Given the description of an element on the screen output the (x, y) to click on. 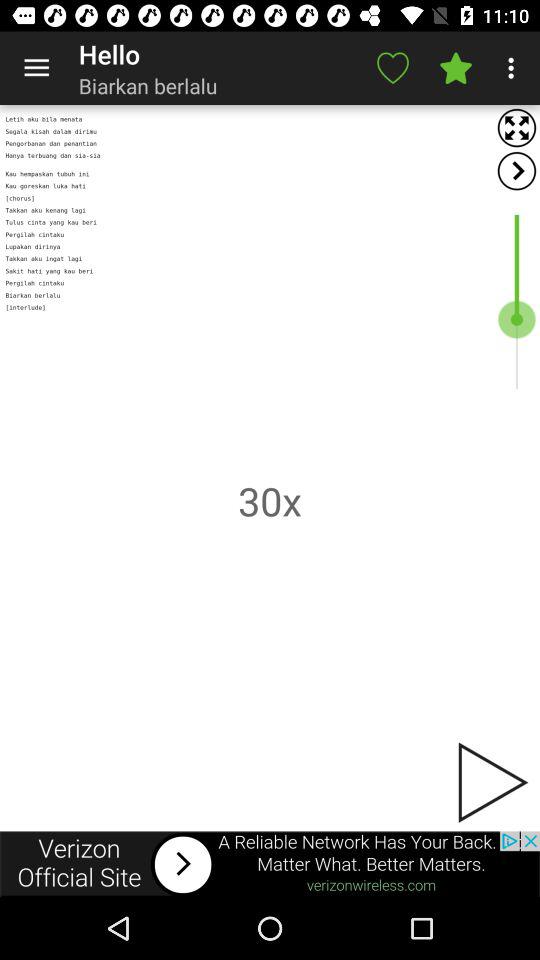
scroll right (516, 170)
